Given the description of an element on the screen output the (x, y) to click on. 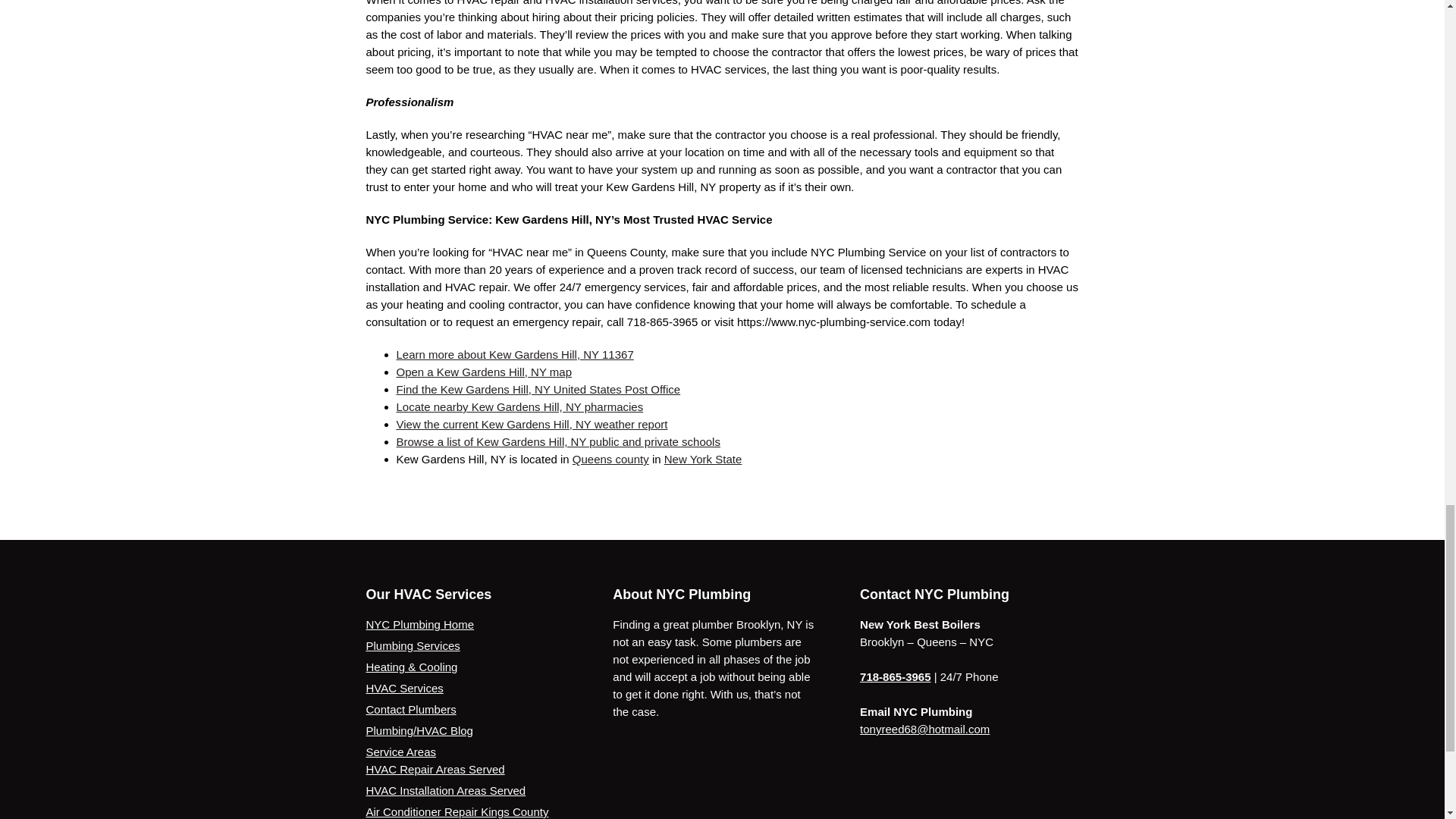
Find the Kew Gardens Hill, NY United States Post Office (537, 389)
Learn more about Kew Gardens Hill, NY 11367 (514, 354)
Open a Kew Gardens Hill, NY map (484, 371)
Locate nearby Kew Gardens Hill, NY pharmacies (519, 406)
